Given the description of an element on the screen output the (x, y) to click on. 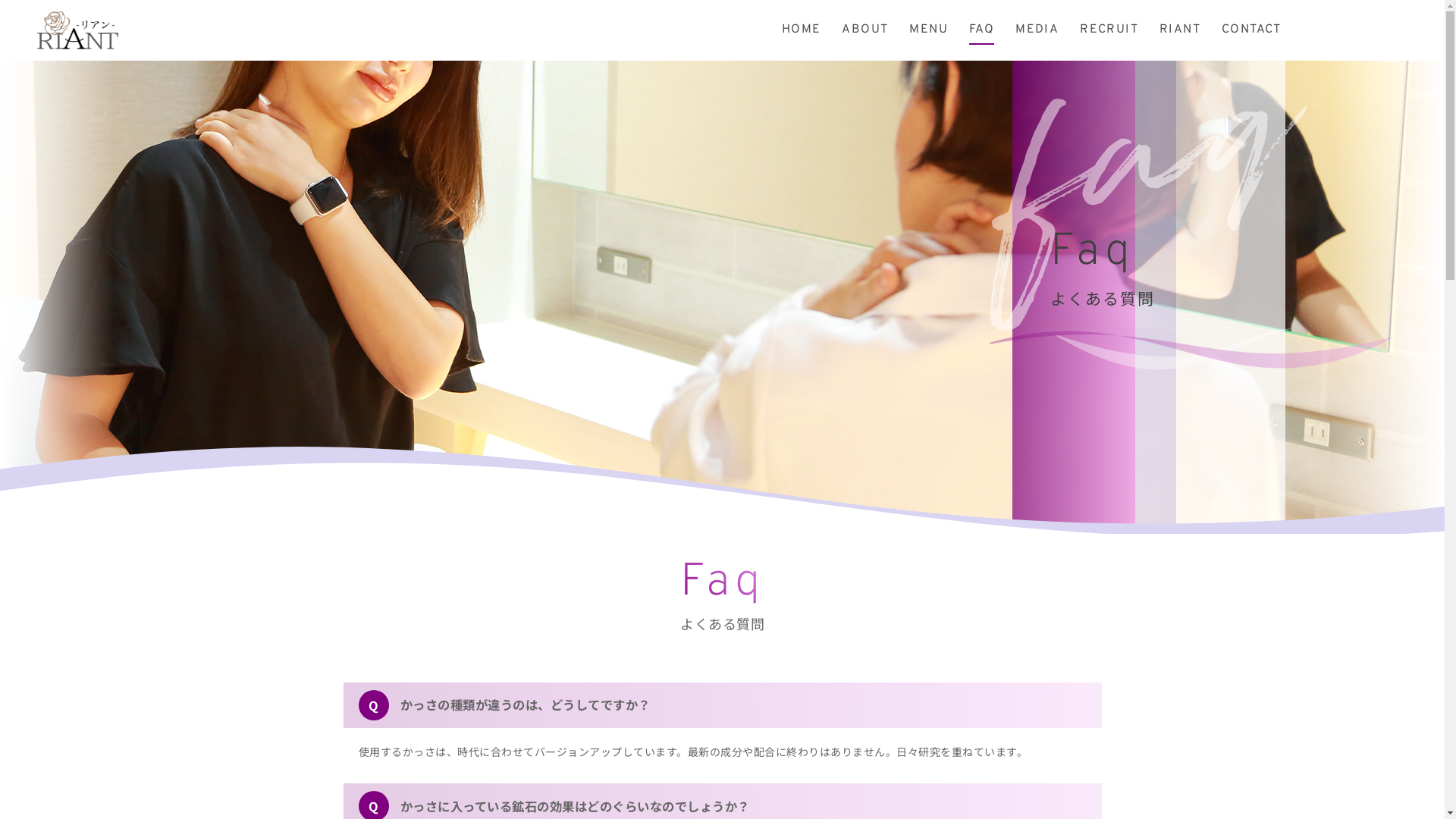
MENU Element type: text (928, 32)
RECRUIT Element type: text (1108, 32)
MEDIA Element type: text (1036, 32)
ABOUT Element type: text (864, 32)
HOME Element type: text (801, 32)
CONTACT Element type: text (1251, 32)
FAQ Element type: text (981, 32)
RIANT Element type: text (1179, 32)
